Given the description of an element on the screen output the (x, y) to click on. 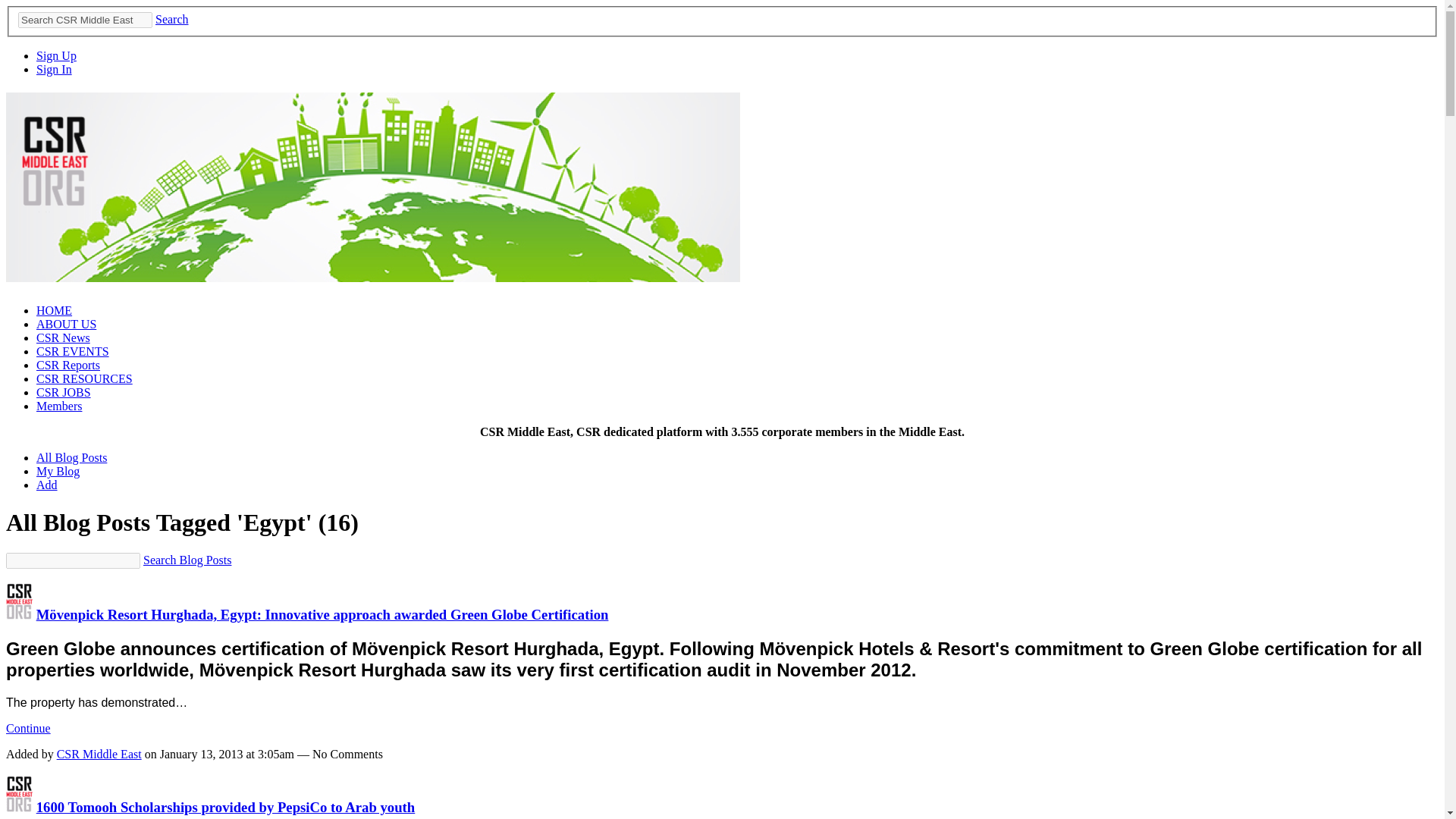
ABOUT US (66, 323)
HOME (53, 309)
Search CSR Middle East (84, 19)
CSR Middle East (18, 806)
CSR Reports (68, 364)
Search (172, 19)
Search Blog Posts (186, 559)
CSR News (63, 337)
Sign In (53, 69)
Search CSR Middle East (84, 19)
CSR EVENTS (72, 350)
CSR Middle East (18, 614)
Sign Up (56, 55)
